Given the description of an element on the screen output the (x, y) to click on. 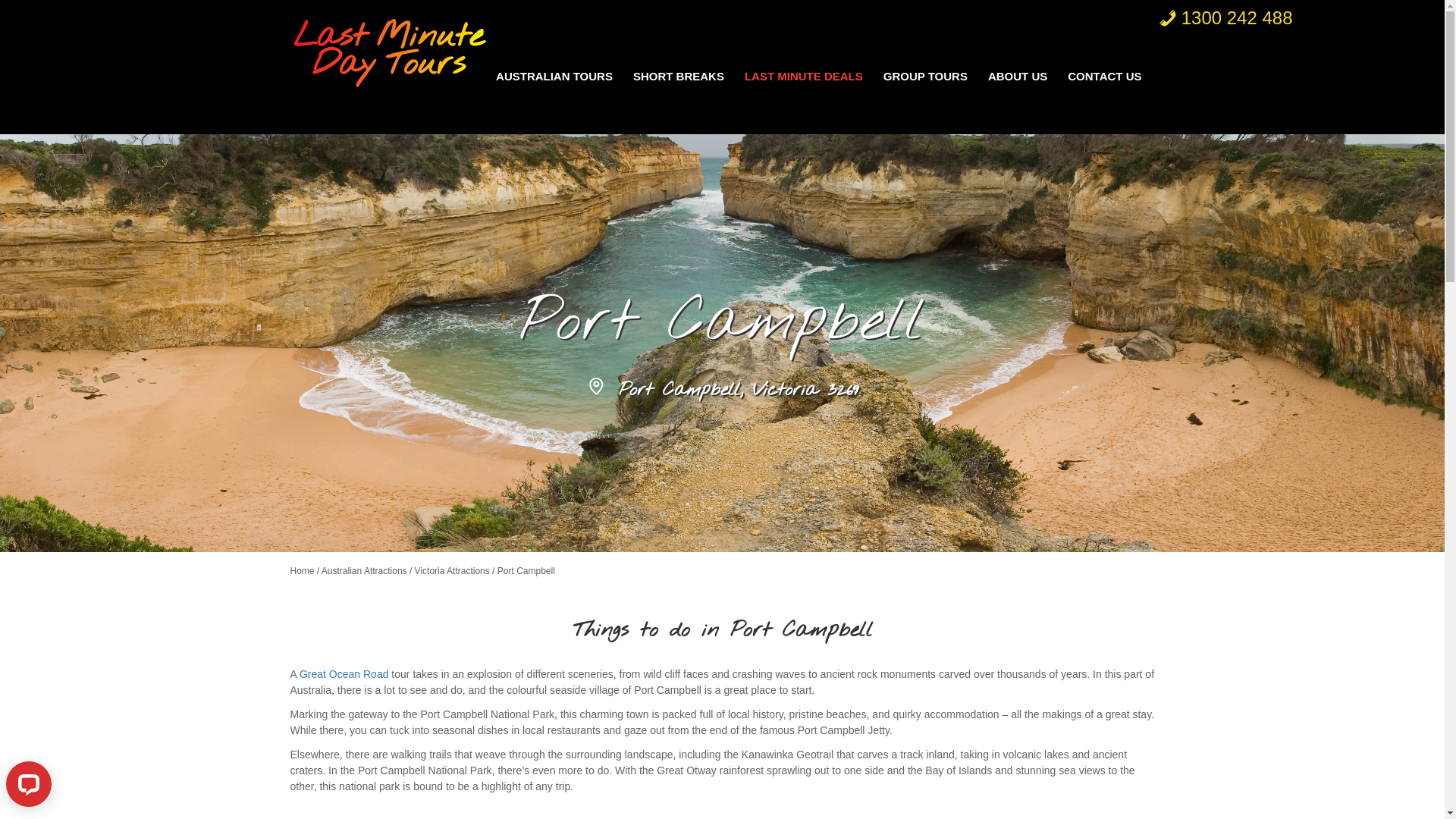
CONTACT US Element type: text (1104, 76)
AUSTRALIAN TOURS Element type: text (554, 76)
Great Ocean Road Element type: text (344, 674)
Australian Attractions Element type: text (364, 570)
Victoria Attractions Element type: text (451, 570)
Home Element type: text (301, 570)
GROUP TOURS Element type: text (925, 76)
LAST MINUTE DEALS Element type: text (803, 76)
1300 242 488 Element type: text (1225, 18)
SHORT BREAKS Element type: text (678, 76)
ABOUT US Element type: text (1017, 76)
